Given the description of an element on the screen output the (x, y) to click on. 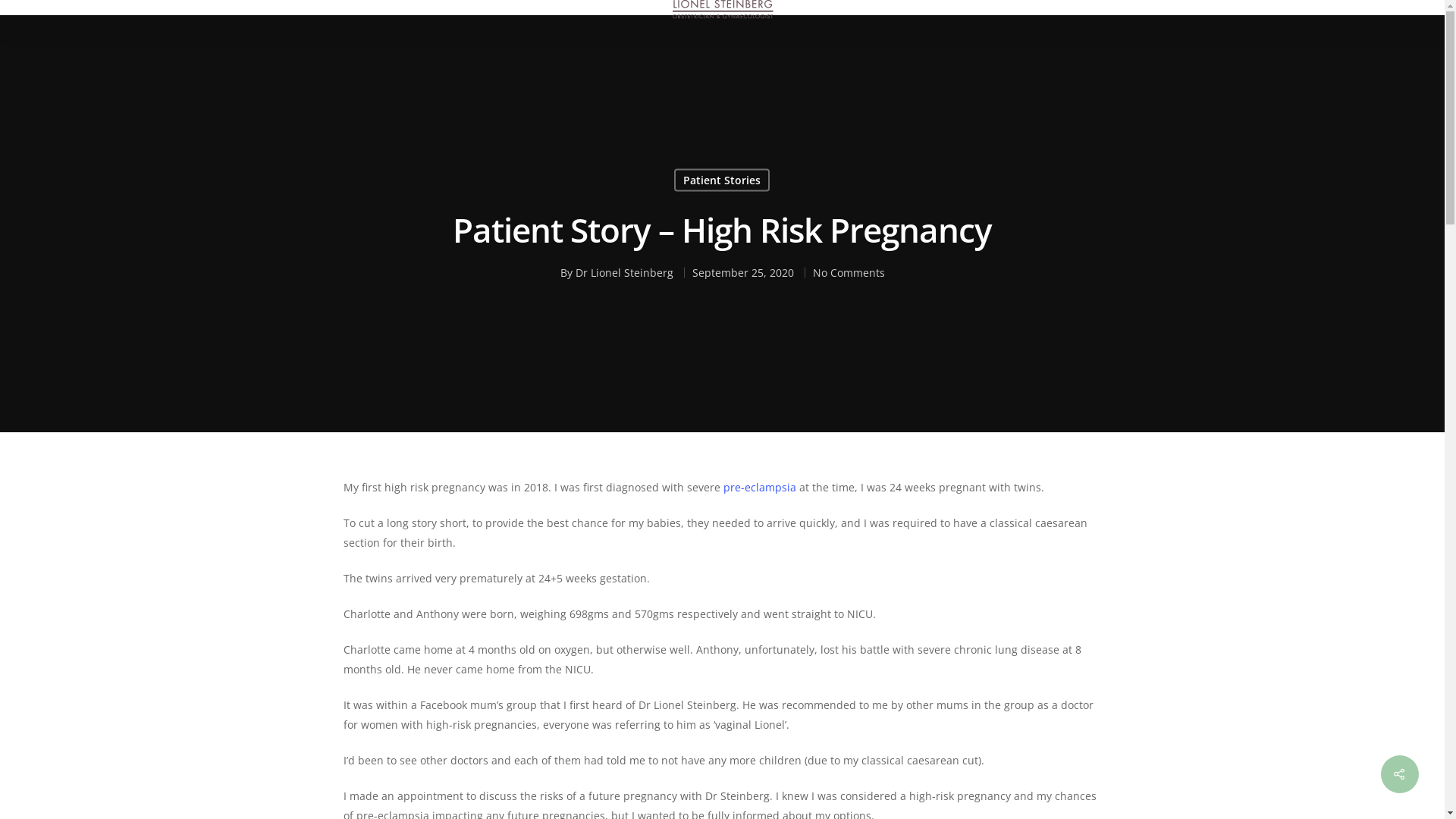
No Comments Element type: text (848, 272)
Dr Lionel Steinberg Element type: text (623, 272)
pre-eclampsia Element type: text (759, 487)
Patient Stories Element type: text (721, 179)
